Given the description of an element on the screen output the (x, y) to click on. 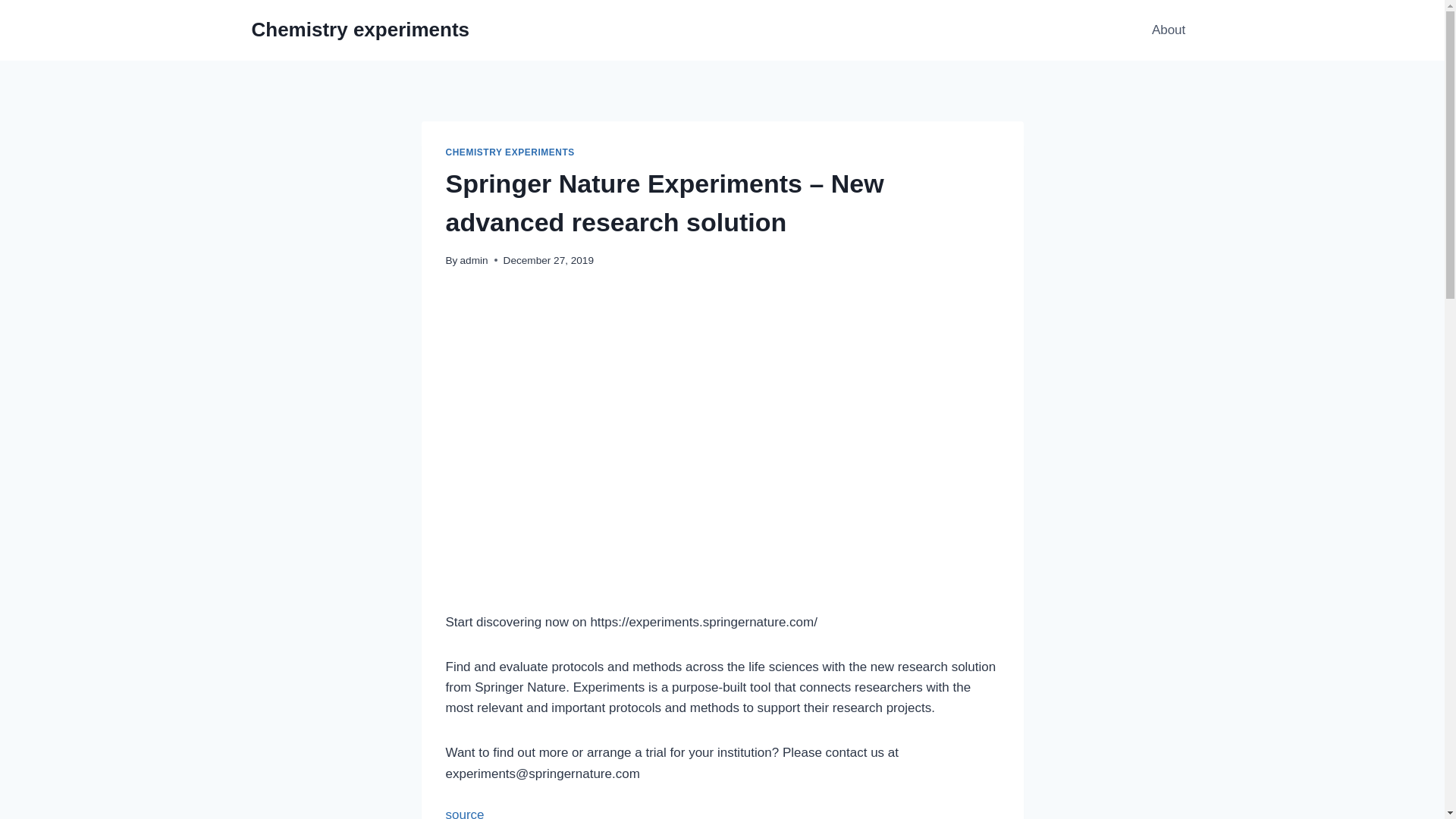
Chemistry experiments (360, 29)
CHEMISTRY EXPERIMENTS (510, 152)
About (1168, 30)
source (464, 813)
admin (473, 260)
